Given the description of an element on the screen output the (x, y) to click on. 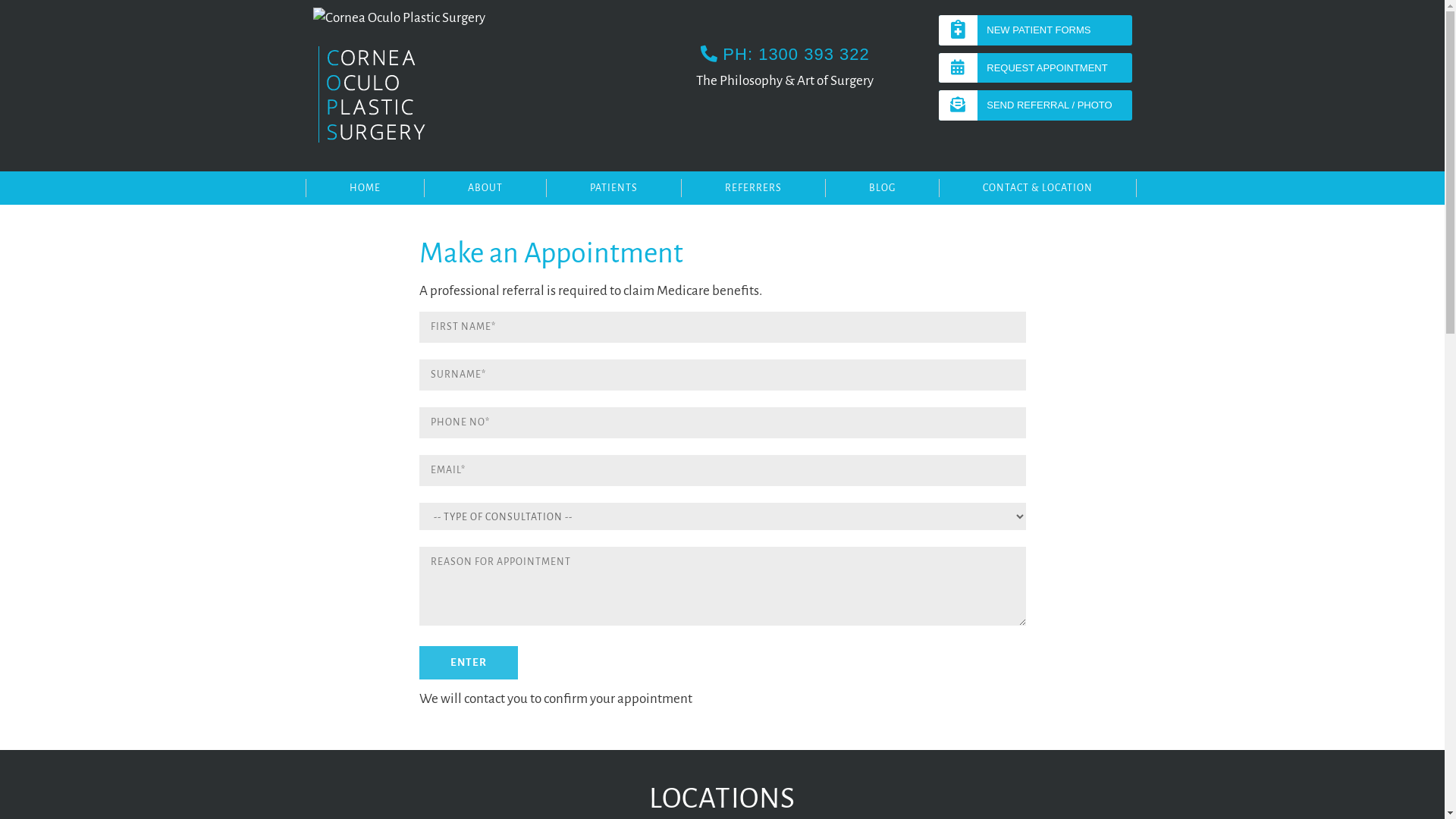
HOME Element type: text (363, 187)
REFERRERS Element type: text (752, 187)
NEW PATIENT FORMS Element type: text (1035, 30)
SEND REFERRAL / PHOTO Element type: text (1035, 105)
BLOG Element type: text (881, 187)
ABOUT Element type: text (484, 187)
Enter Element type: text (467, 663)
PH: 1300 393 322 Element type: text (784, 53)
CONTACT & LOCATION Element type: text (1037, 187)
PATIENTS Element type: text (613, 187)
REQUEST APPOINTMENT Element type: text (1035, 68)
